Given the description of an element on the screen output the (x, y) to click on. 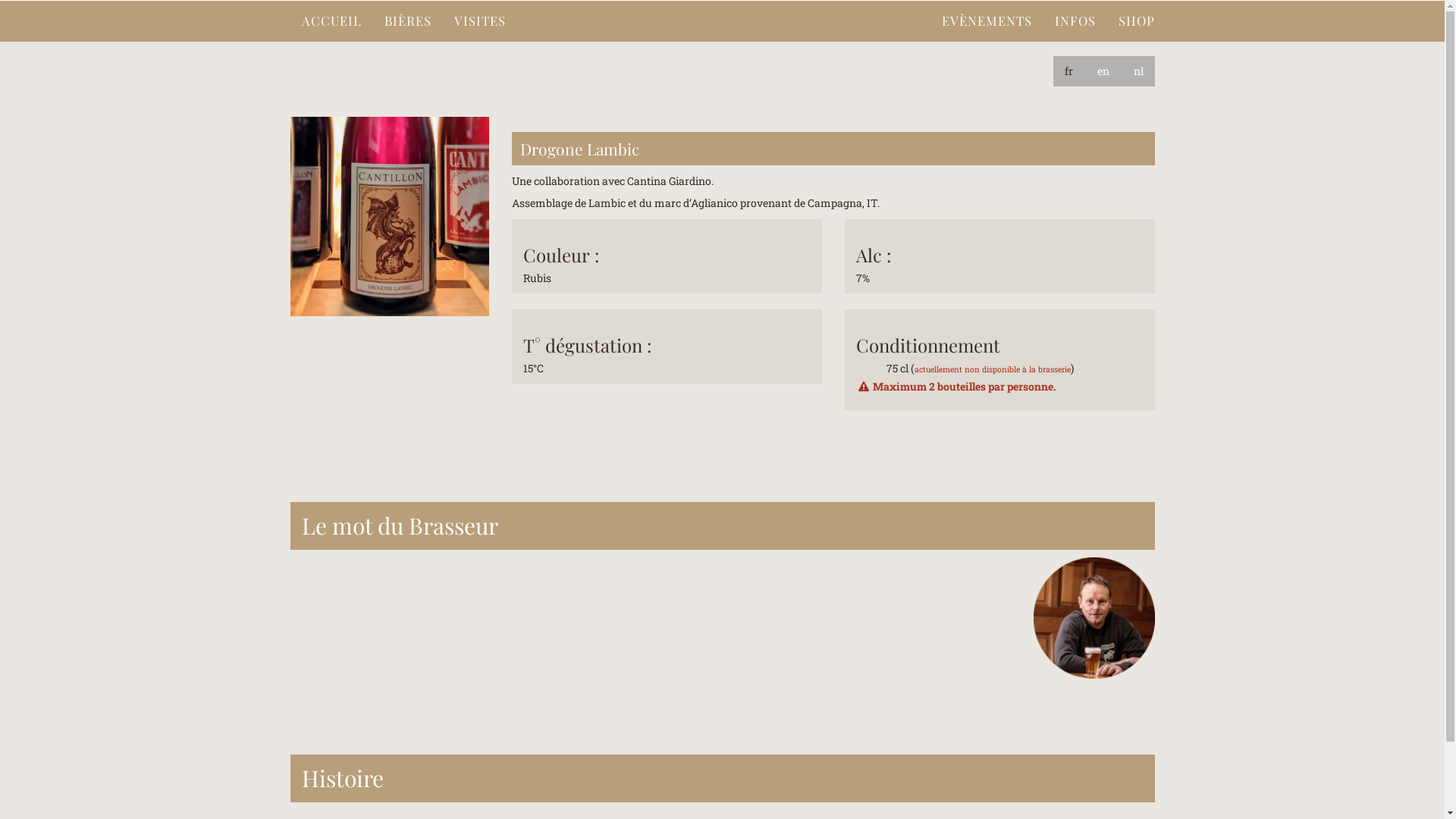
fr Element type: text (1067, 71)
nl Element type: text (1138, 71)
SHOP Element type: text (1136, 20)
VISITES Element type: text (479, 20)
ACCUEIL Element type: text (330, 20)
en Element type: text (1102, 71)
INFOS Element type: text (1075, 20)
